Given the description of an element on the screen output the (x, y) to click on. 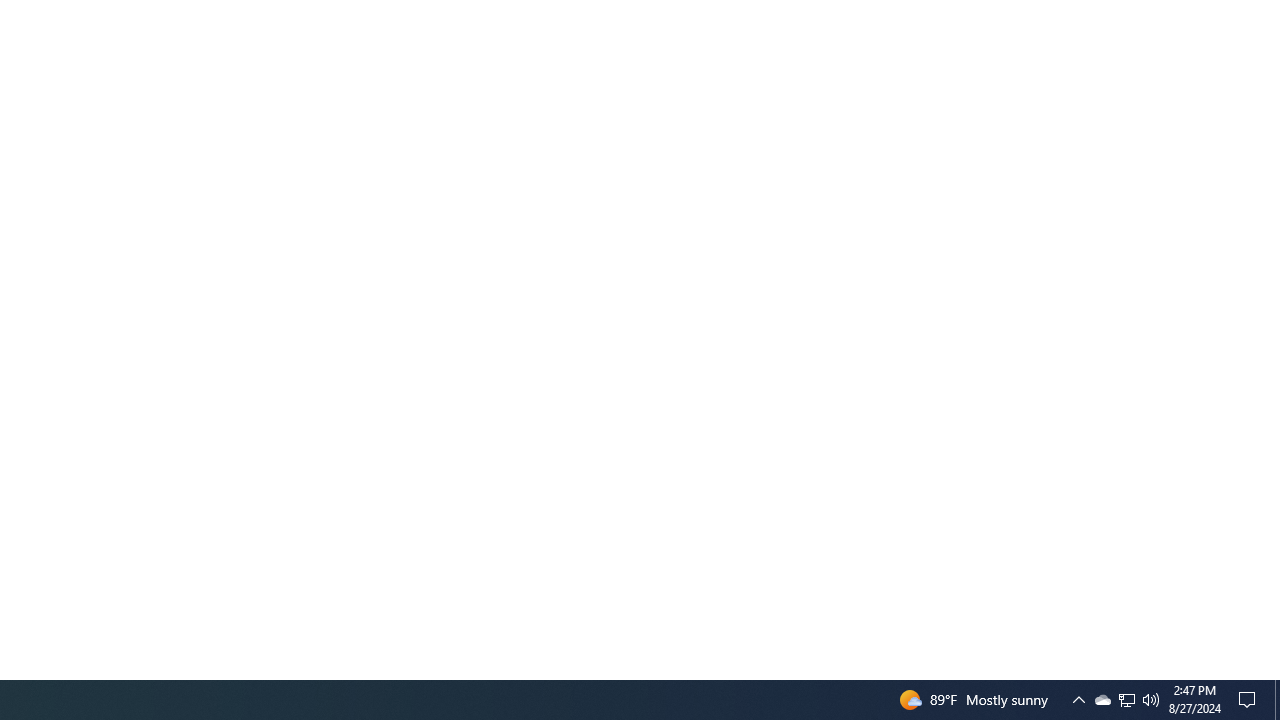
Q2790: 100% (1151, 699)
Show desktop (1102, 699)
User Promoted Notification Area (1126, 699)
Action Center, No new notifications (1277, 699)
Notification Chevron (1126, 699)
